Given the description of an element on the screen output the (x, y) to click on. 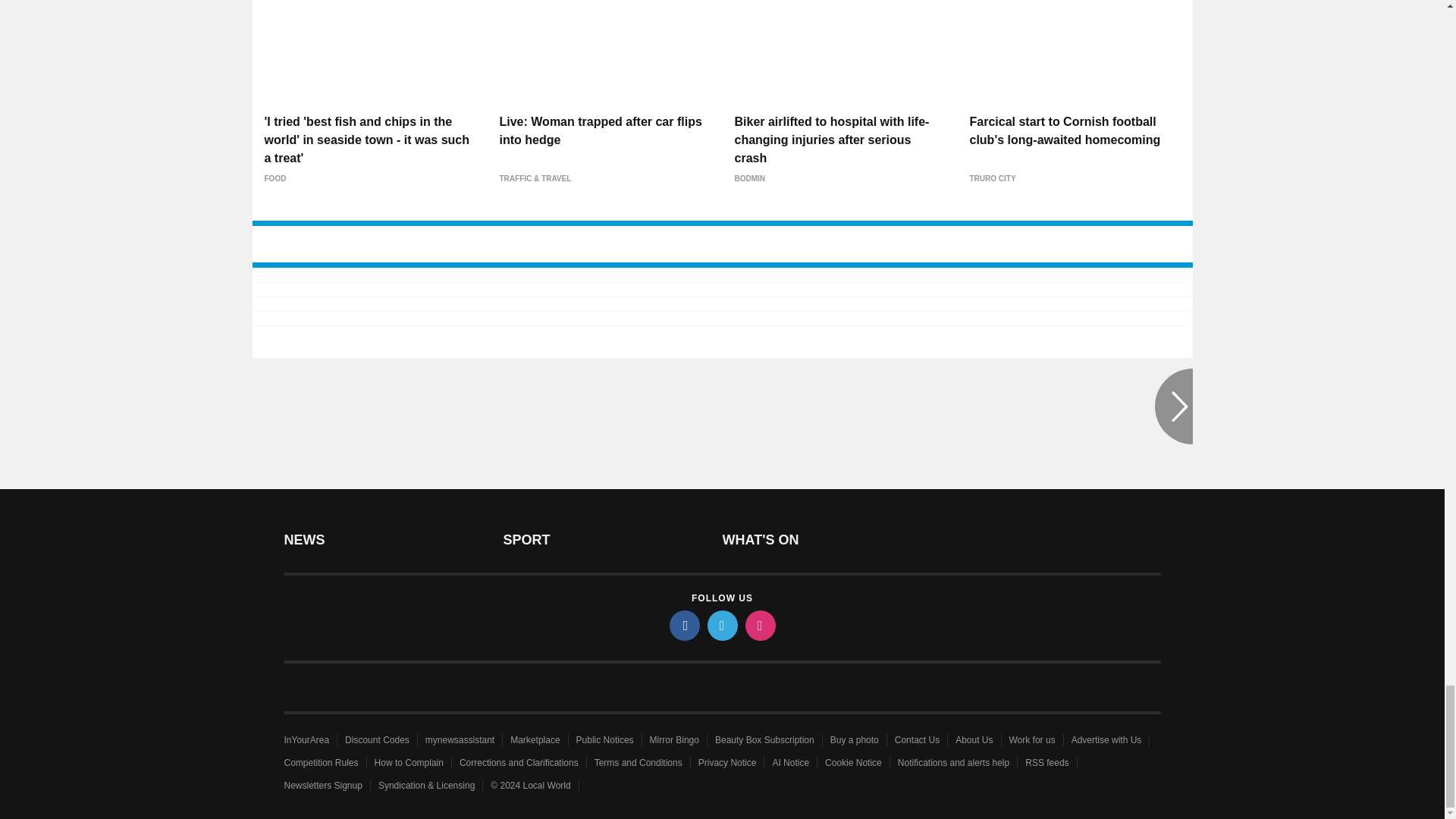
instagram (759, 625)
facebook (683, 625)
twitter (721, 625)
